Given the description of an element on the screen output the (x, y) to click on. 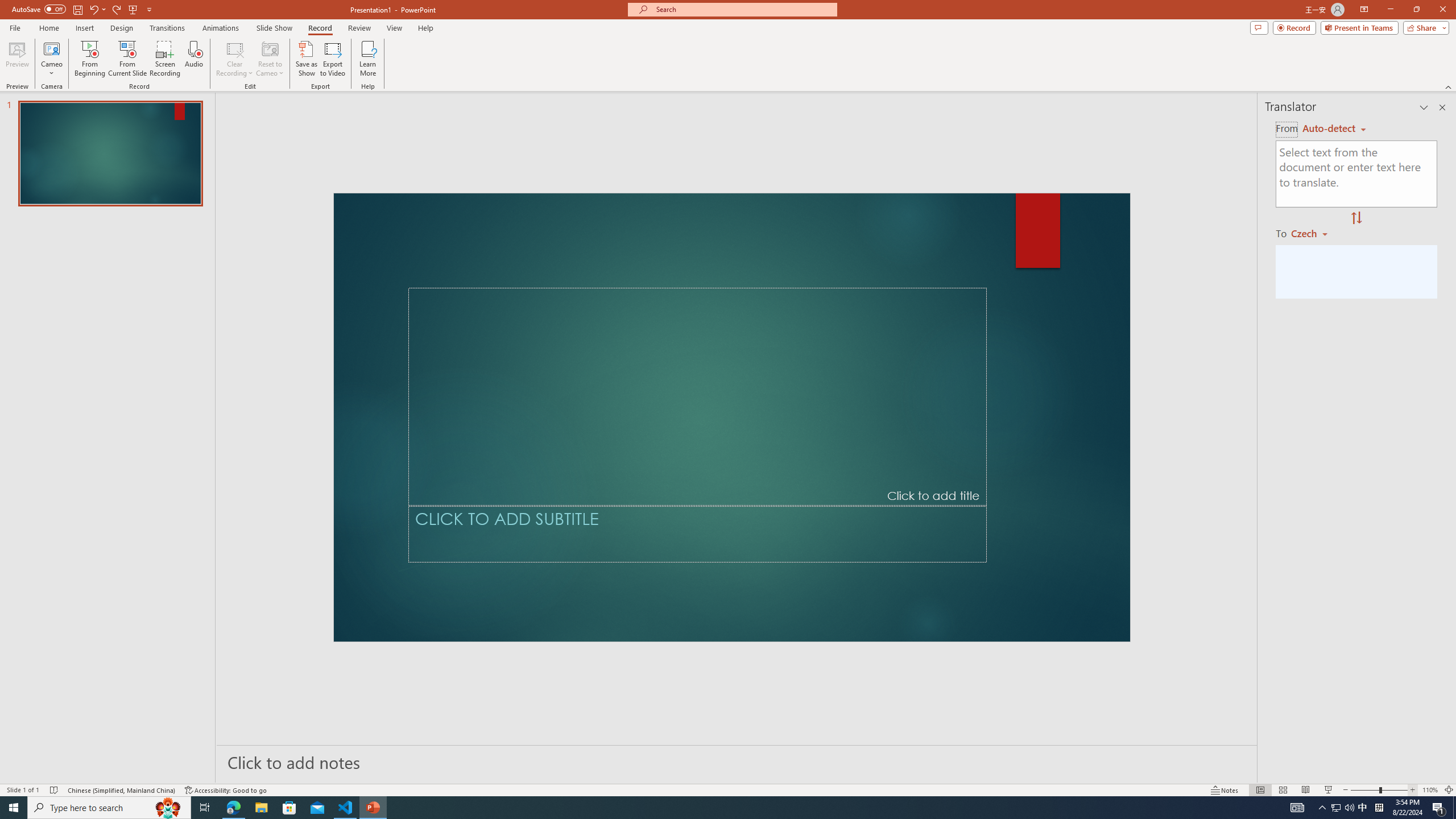
Swap "from" and "to" languages. (1355, 218)
